Given the description of an element on the screen output the (x, y) to click on. 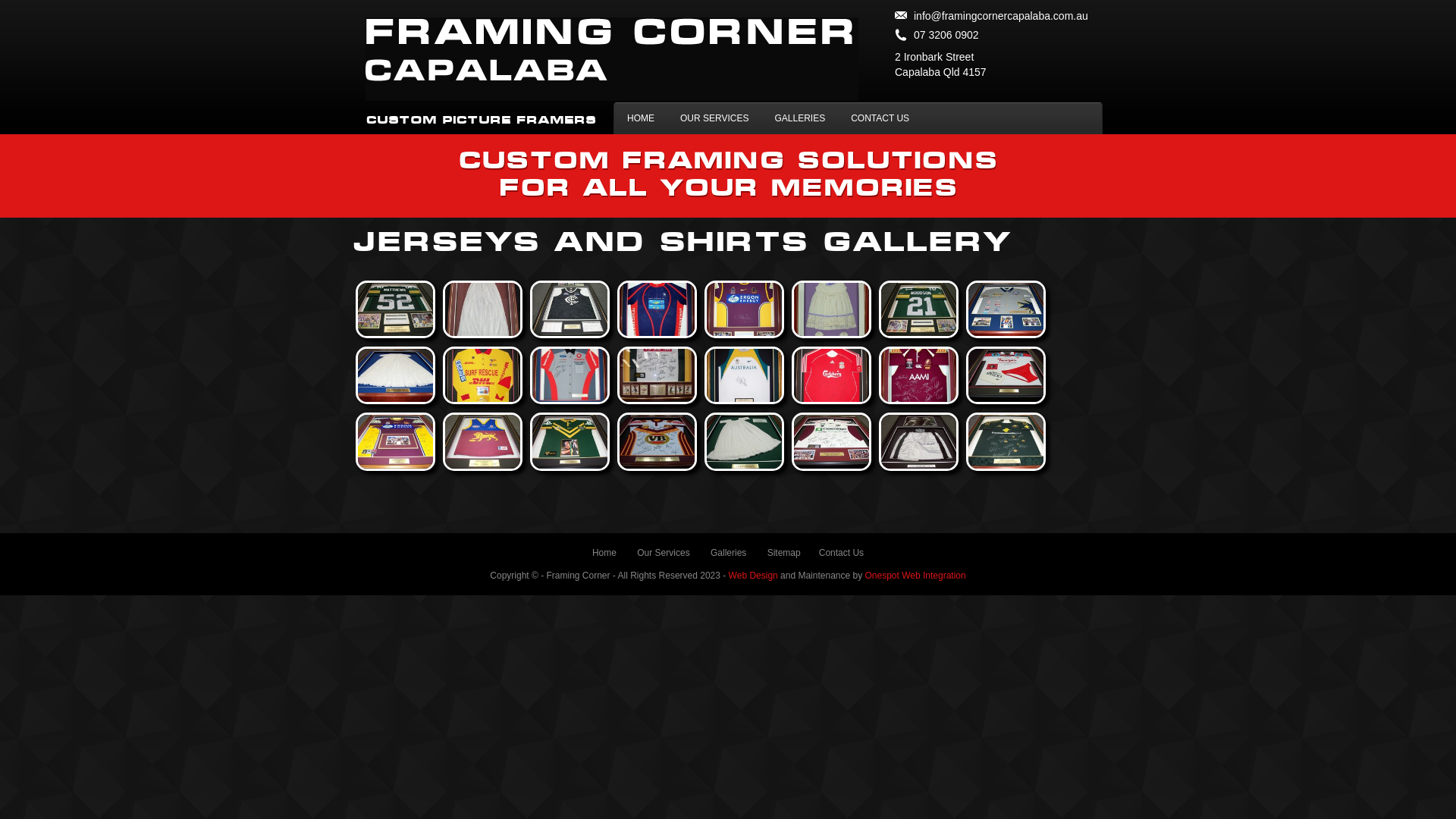
FRAMING CORNER - CAPALABA Element type: text (611, 58)
Contact Us Element type: text (841, 552)
info@framingcornercapalaba.com.au Element type: text (991, 13)
HOME Element type: text (640, 118)
Sitemap Element type: text (783, 552)
Home Element type: text (604, 552)
OUR SERVICES Element type: text (714, 118)
Our Services Element type: text (663, 552)
GALLERIES Element type: text (799, 118)
Onespot Web Integration Element type: text (914, 575)
CONTACT US Element type: text (879, 118)
Galleries Element type: text (728, 552)
Web Design Element type: text (753, 575)
